Given the description of an element on the screen output the (x, y) to click on. 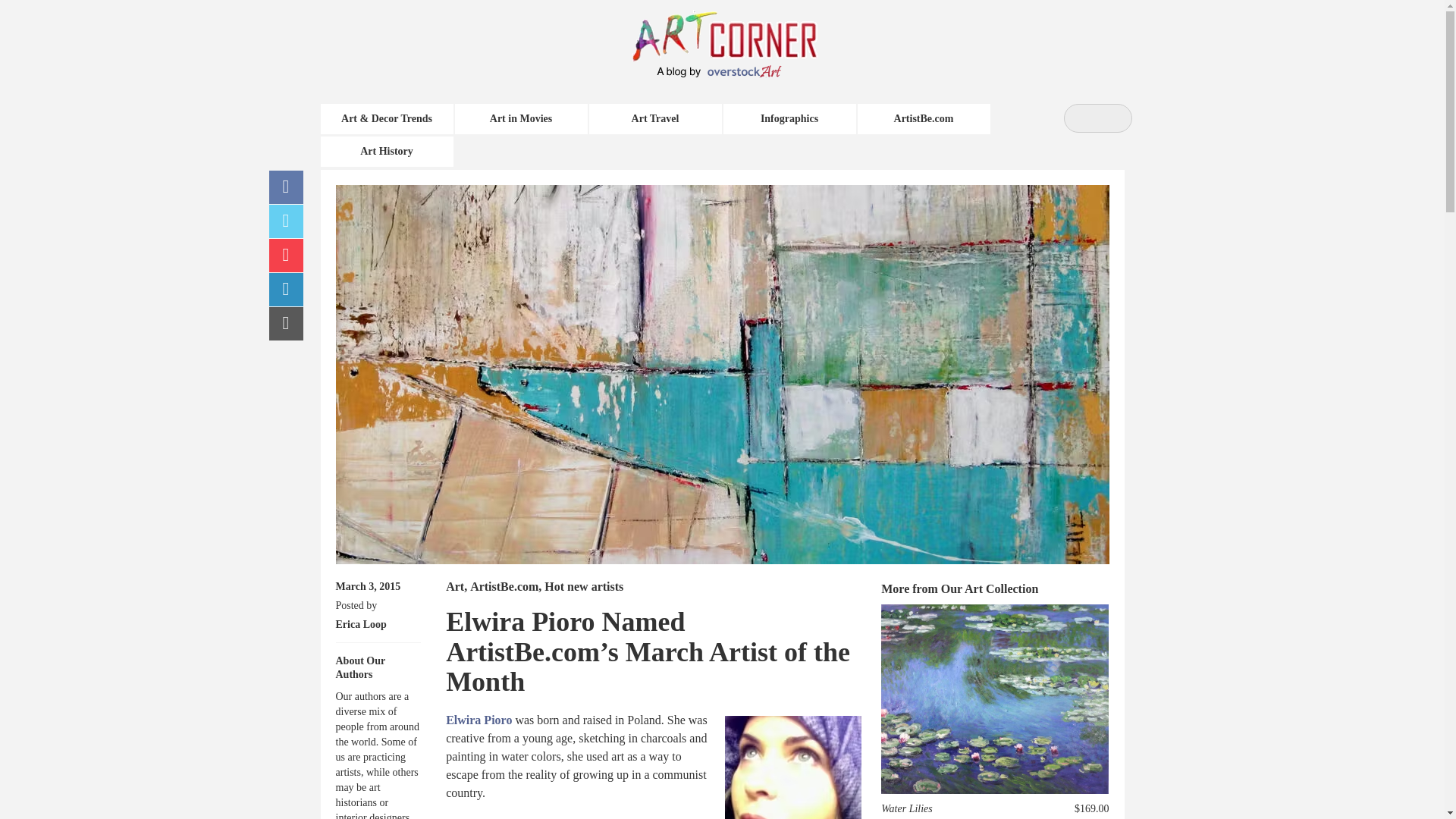
Posts by Erica Loop (359, 624)
ArtConer Blog by overstockArt.com (740, 34)
Hot new artists (583, 585)
Art History (386, 151)
Art (454, 585)
Infographics (789, 119)
Erica Loop (359, 624)
Elwira Pioro (478, 719)
Art Corner (740, 34)
ArtistBe.com (504, 585)
